Given the description of an element on the screen output the (x, y) to click on. 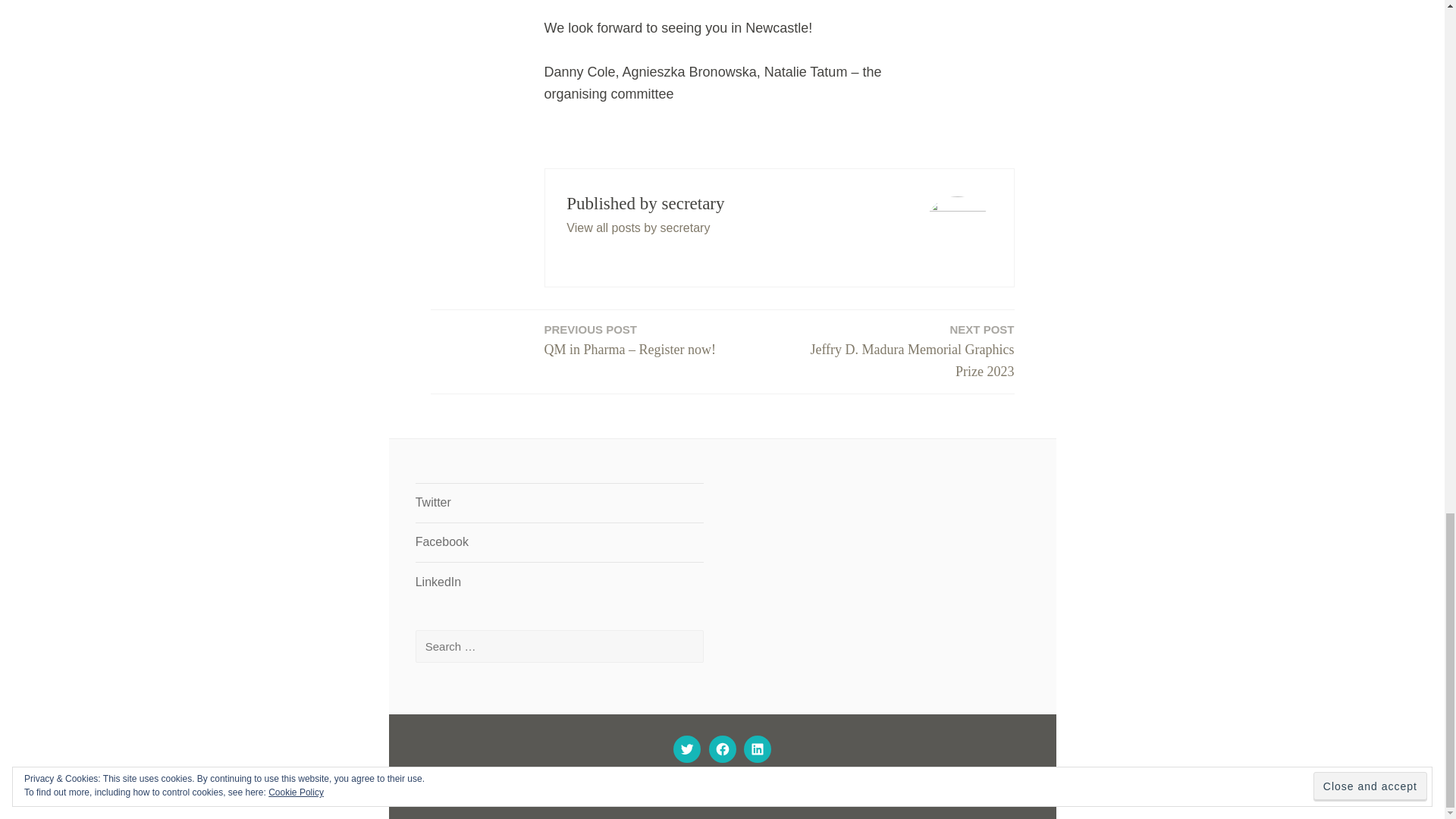
TWITTER (686, 749)
Molecular Graphics and Modelling Society Facebook Group (721, 749)
Molecular Graphics and Modelling Society LinkedIn Group (757, 749)
Molecular Graphics and Modelling Society Facebook Group (441, 541)
LinkedIn (437, 581)
Facebook (441, 541)
Molecular Graphics and Modelling Society Twitter Feed (432, 502)
Molecular Graphics and Modelling Society LinkedIn Group (437, 581)
Twitter (901, 352)
View all posts by secretary (432, 502)
Molecular Graphics and Modelling Society Twitter Feed (638, 227)
